Given the description of an element on the screen output the (x, y) to click on. 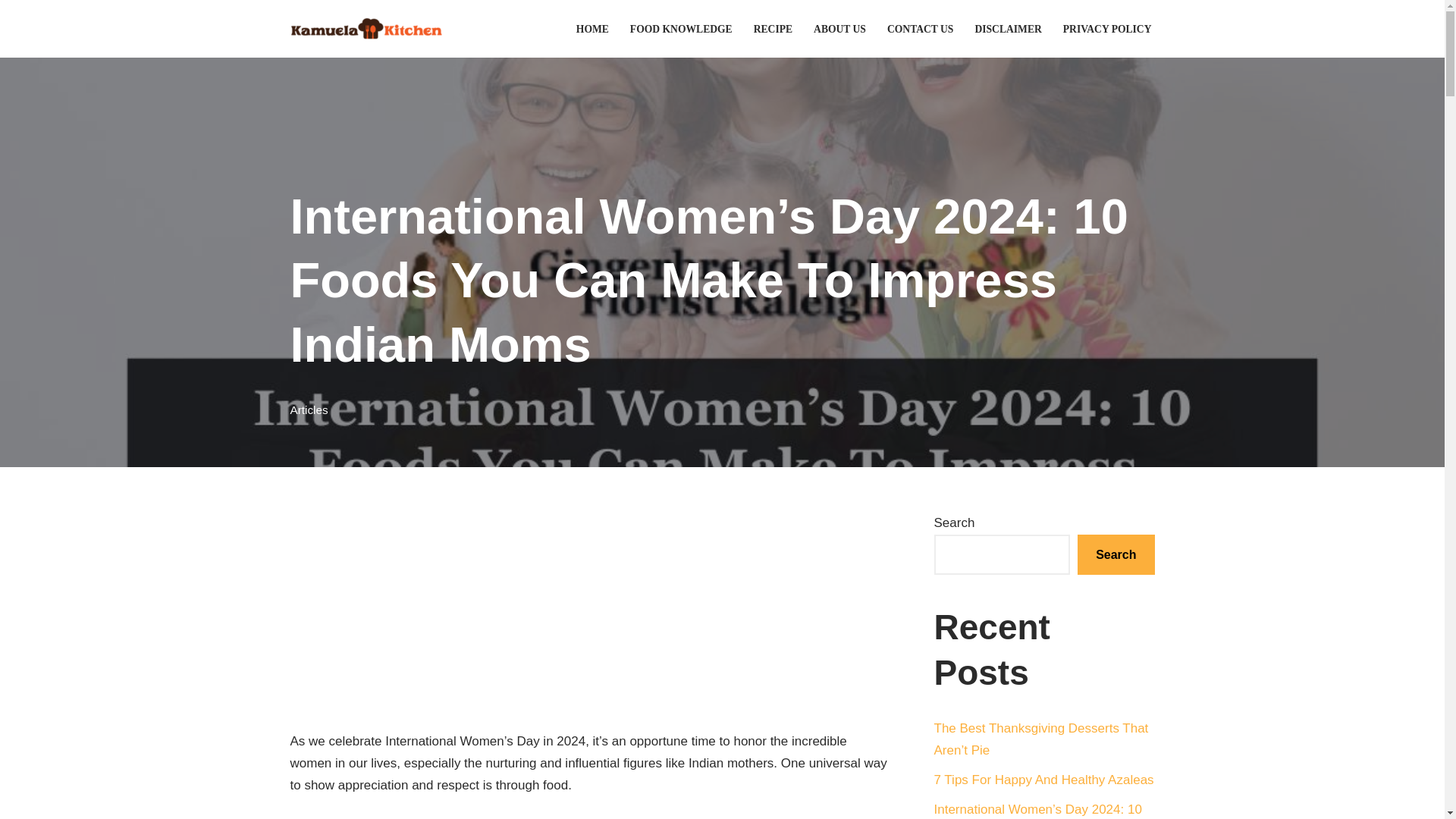
FOOD KNOWLEDGE (681, 28)
Search (1115, 554)
7 Tips For Happy And Healthy Azaleas (1044, 780)
ABOUT US (839, 28)
Advertisement (588, 618)
RECIPE (773, 28)
Skip to content (11, 31)
HOME (592, 28)
Articles (308, 409)
CONTACT US (919, 28)
DISCLAIMER (1007, 28)
PRIVACY POLICY (1106, 28)
